Given the description of an element on the screen output the (x, y) to click on. 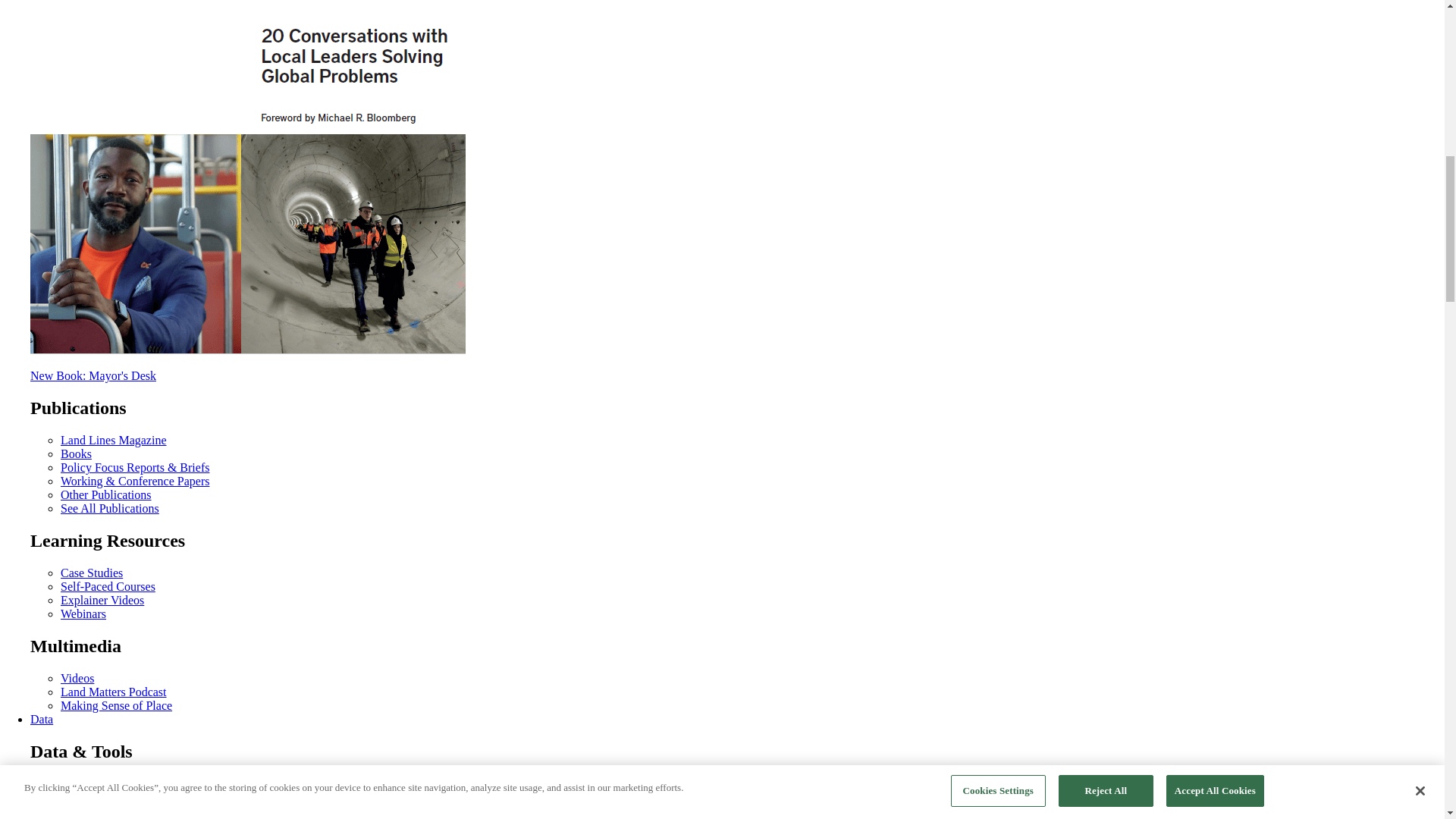
Self-Paced Courses (108, 585)
Explainer Videos (102, 599)
Land Matters Podcast (114, 691)
Other Publications (106, 494)
Webinars (83, 613)
Data (41, 718)
Case Studies (91, 572)
See All Publications (109, 508)
Land Lines Magazine (114, 440)
Videos (77, 677)
State-by-State Property Tax at a Glance (156, 809)
Books (76, 453)
Making Sense of Place (116, 705)
Fiscally Standardized Cities (128, 782)
